Given the description of an element on the screen output the (x, y) to click on. 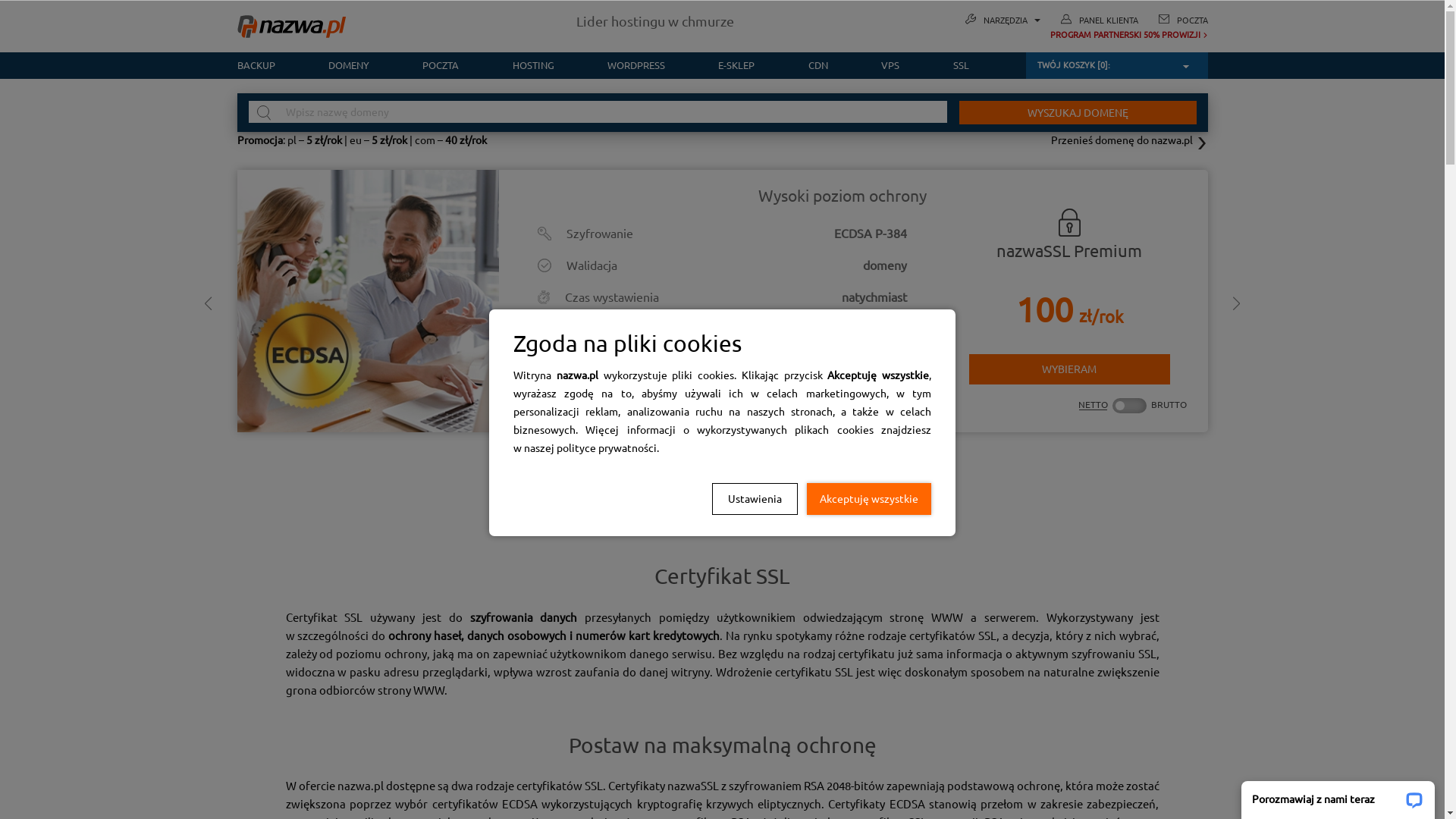
WORDPRESS Element type: text (635, 65)
Ustawienia Element type: text (754, 498)
PROGRAM PARTNERSKI 50% PROWIZJI Element type: text (1086, 35)
HOSTING Element type: text (532, 65)
BACKUP Element type: text (268, 65)
VPS Element type: text (889, 65)
POCZTA Element type: text (440, 65)
znaczek potwierdzenia Element type: hover (899, 328)
SSL Element type: text (946, 65)
POCZTA Element type: text (1192, 20)
znaczek potwierdzenia Element type: hover (899, 361)
DOMENY Element type: text (348, 65)
PANEL KLIENTA Element type: text (1107, 20)
WYBIERAM Element type: text (1069, 369)
E-SKLEP Element type: text (736, 65)
CDN Element type: text (817, 65)
